Given the description of an element on the screen output the (x, y) to click on. 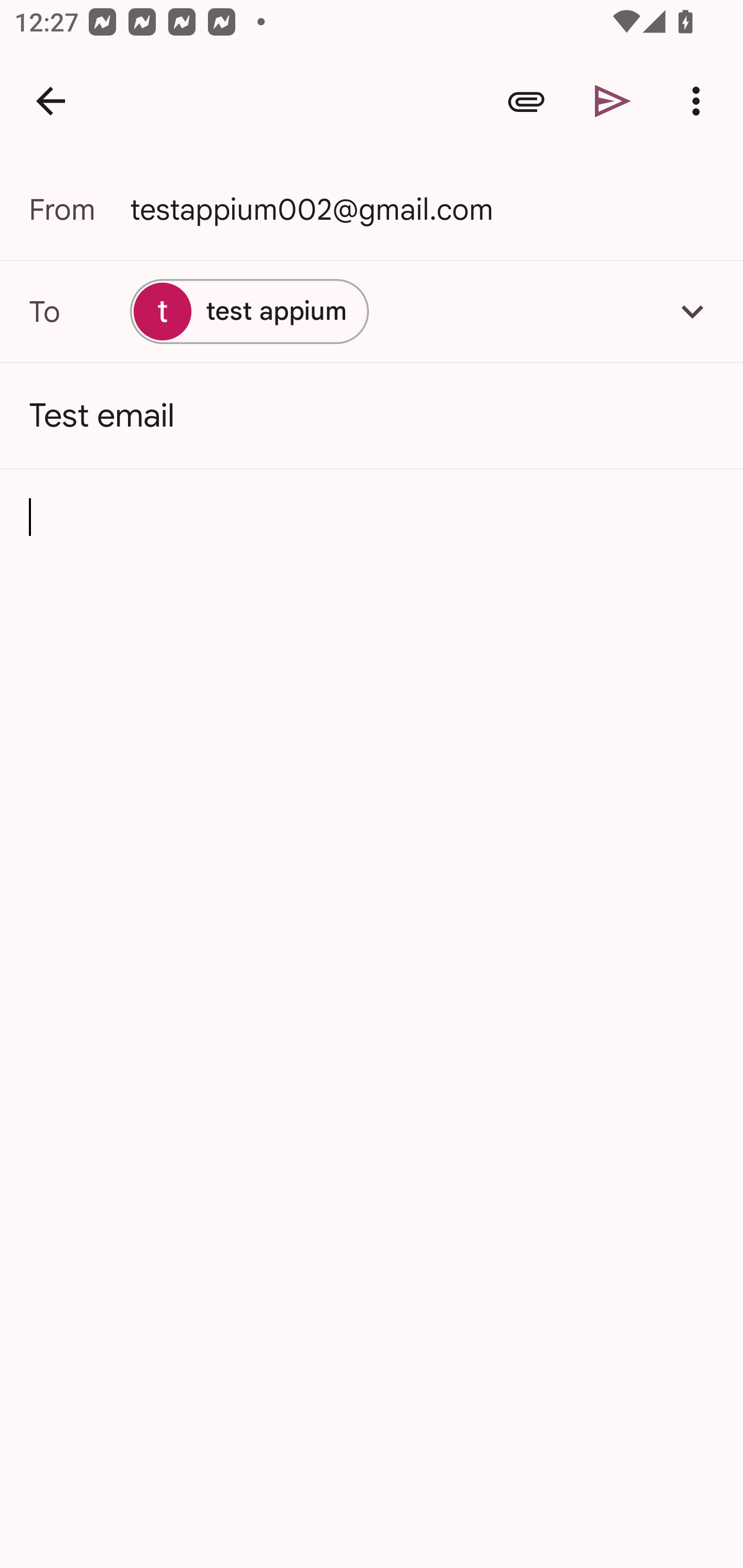
Navigate up (50, 101)
Attach file (525, 101)
Send (612, 101)
More options (699, 101)
From (79, 209)
Add Cc/Bcc (692, 311)
test appium test appium, testappium002@gmail.com (371, 311)
test appium test appium, testappium002@gmail.com (249, 311)
Test email (371, 415)
